Given the description of an element on the screen output the (x, y) to click on. 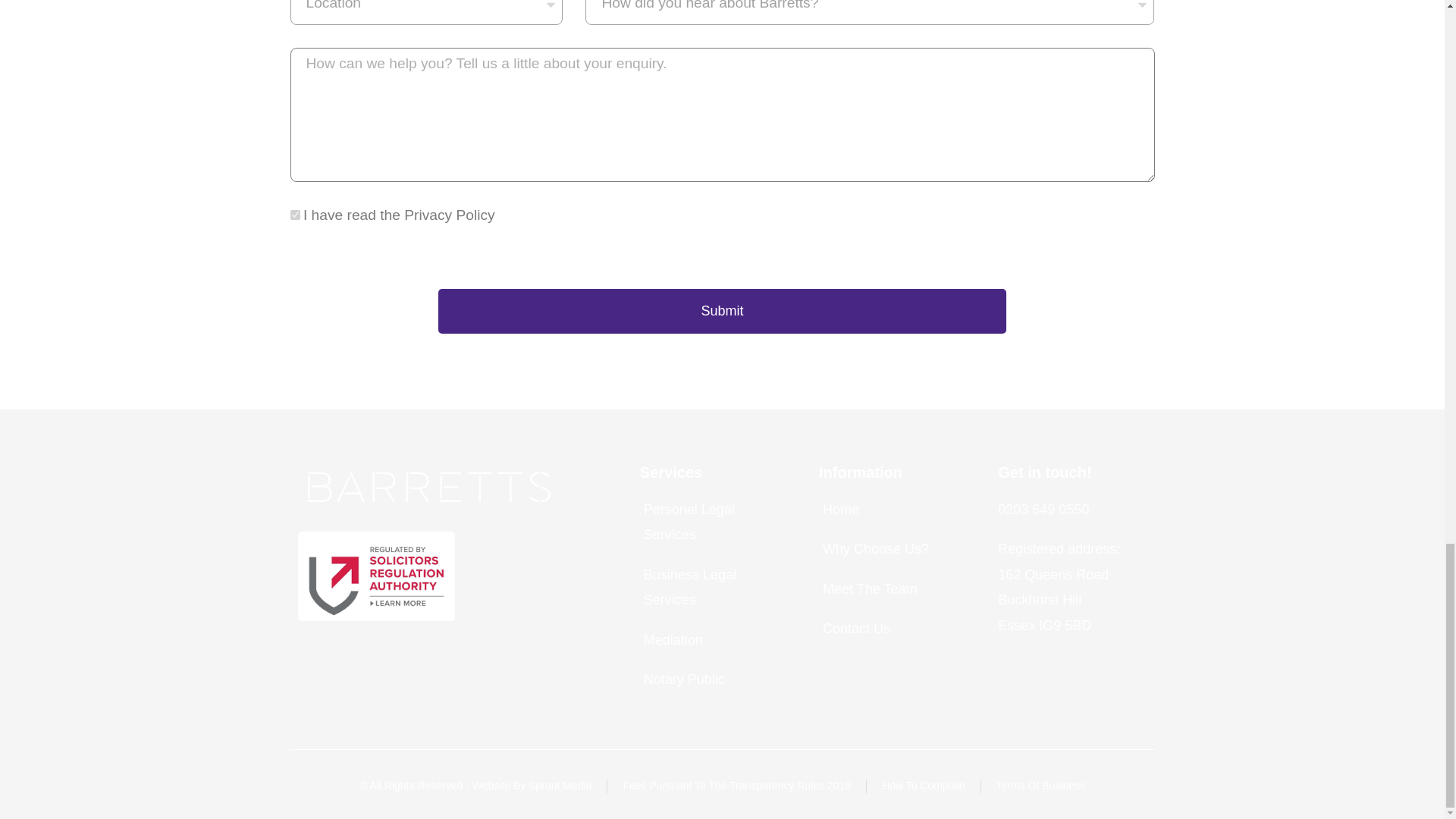
Home (893, 509)
Business Legal Services (714, 587)
on (294, 214)
Personal Legal Services (714, 522)
Mediation (714, 640)
Submit (722, 311)
Notary Public (714, 679)
